Given the description of an element on the screen output the (x, y) to click on. 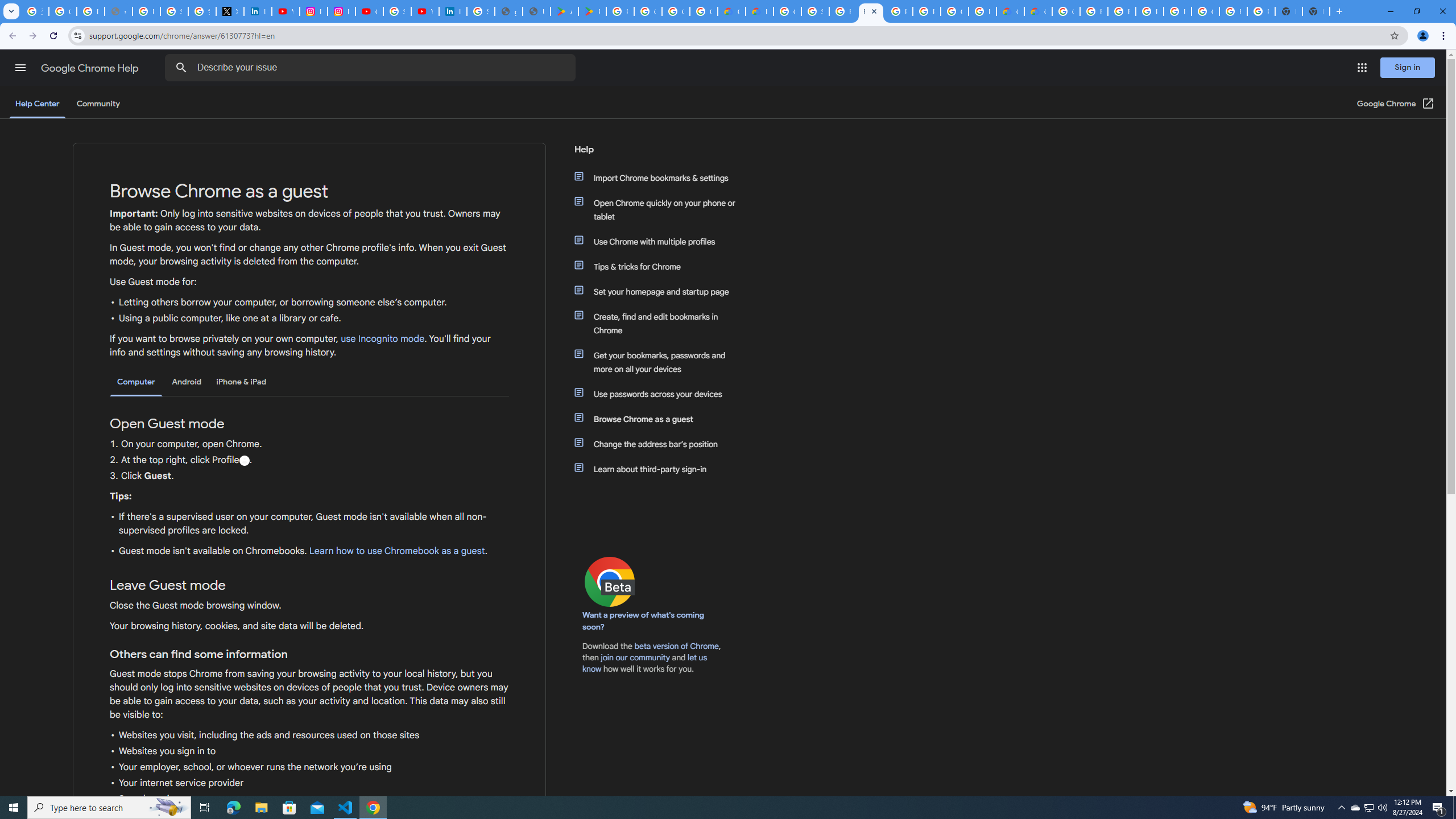
PAW Patrol Rescue World - Apps on Google Play (592, 11)
Create, find and edit bookmarks in Chrome (661, 323)
Tips & tricks for Chrome (661, 266)
Use Chrome with multiple profiles (661, 241)
Privacy Help Center - Policies Help (146, 11)
Community (97, 103)
join our community (634, 657)
